Given the description of an element on the screen output the (x, y) to click on. 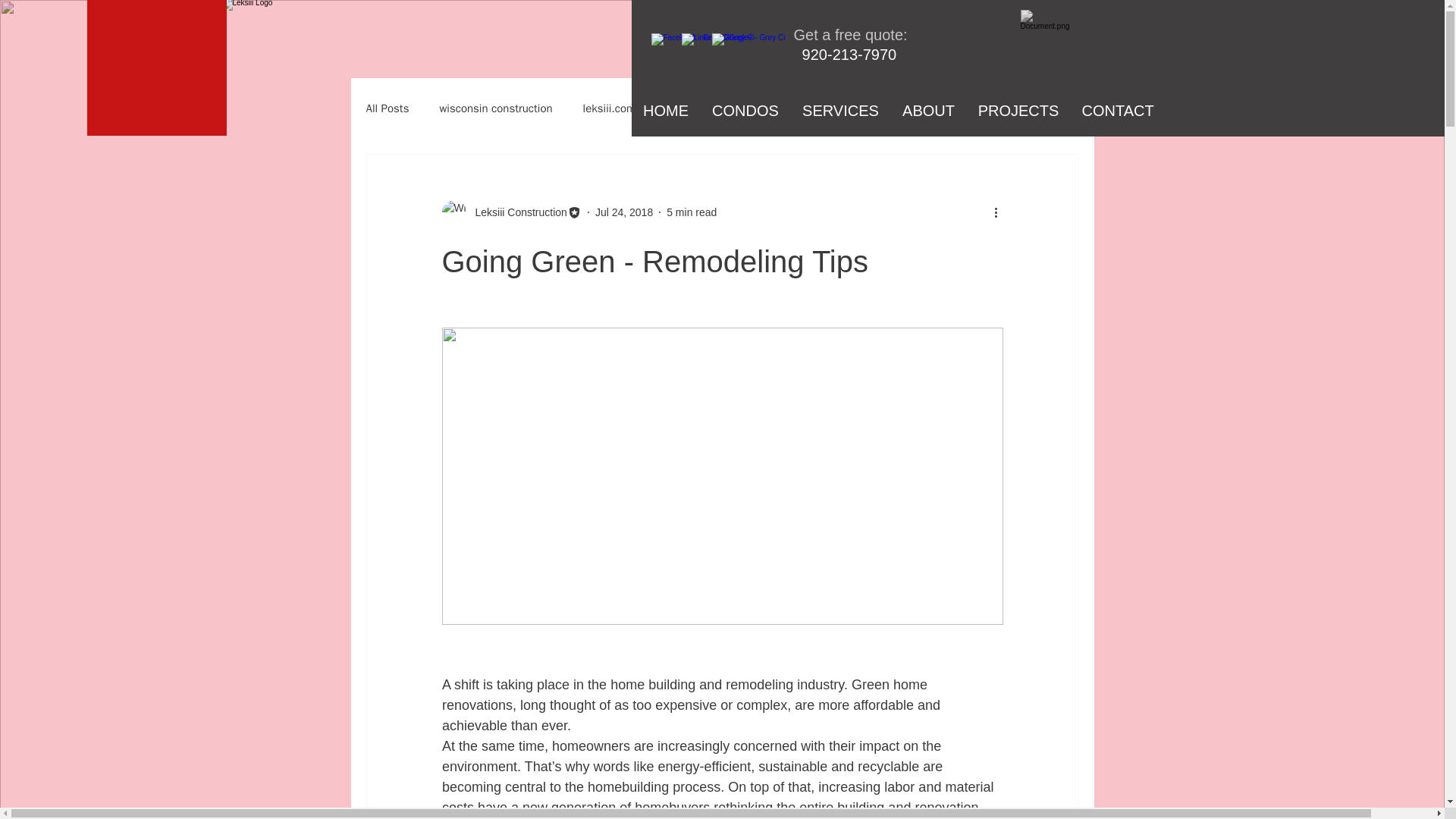
new home builders (823, 108)
Leksiii Construction (515, 212)
Jul 24, 2018 (623, 212)
best contractor wisconsin (964, 108)
leksiii.com (609, 108)
wisconsin construction (495, 108)
Leksiii Construction (510, 211)
hotel renovation (705, 108)
5 min read (691, 212)
All Posts (387, 108)
